Given the description of an element on the screen output the (x, y) to click on. 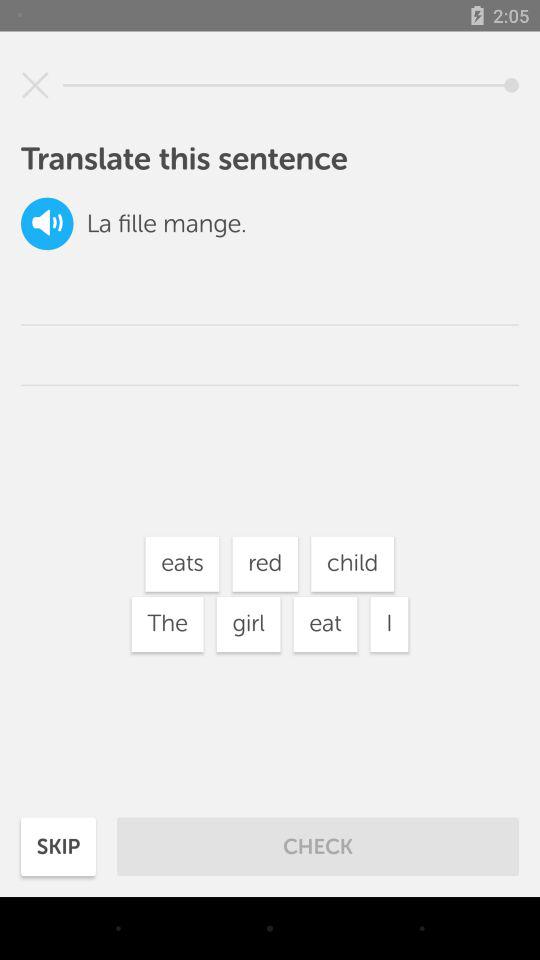
select the item above the translate this sentence (35, 85)
